Given the description of an element on the screen output the (x, y) to click on. 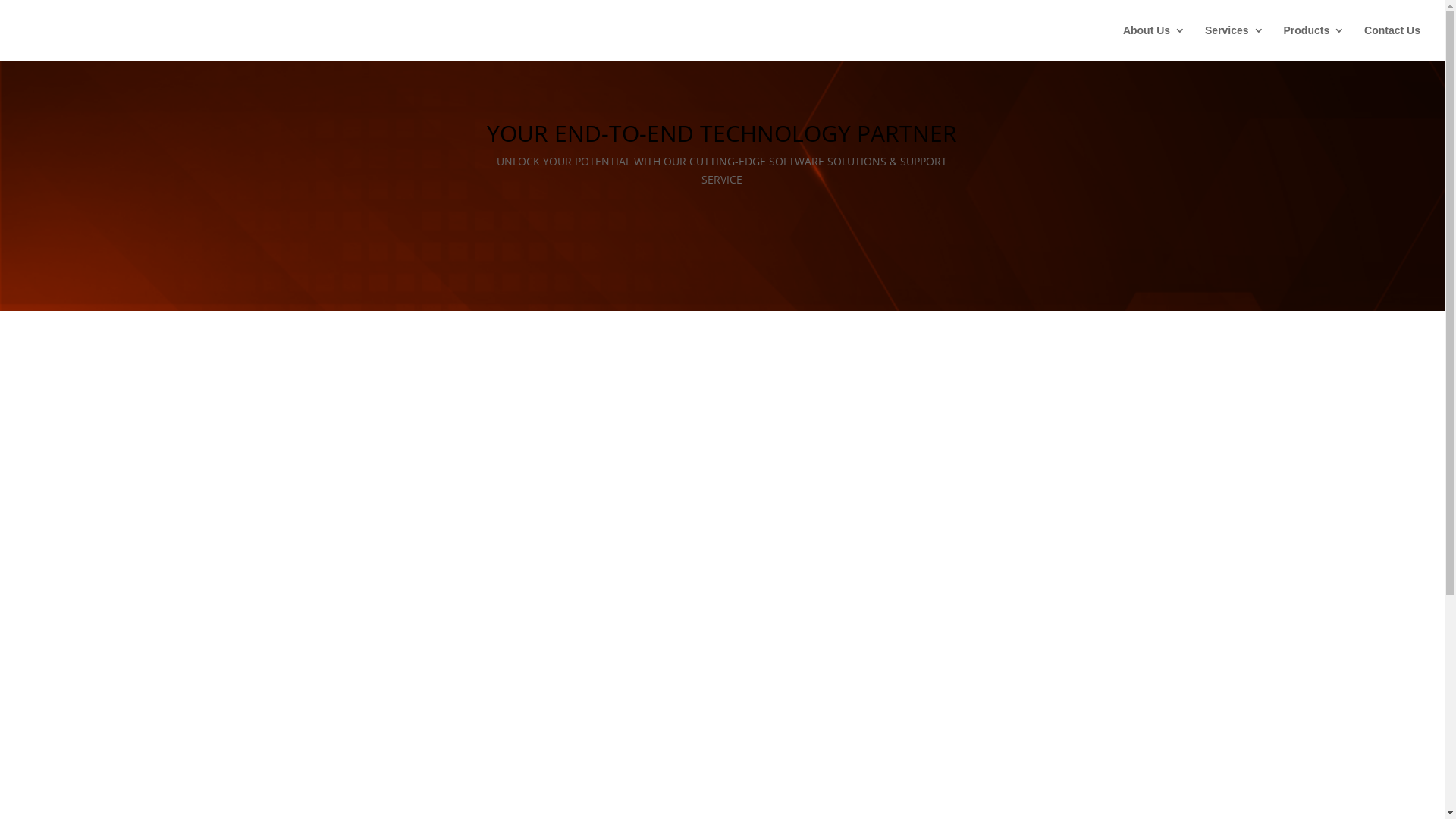
About Us Element type: text (1154, 42)
Products Element type: text (1314, 42)
Contact Us Element type: text (1392, 42)
Services Element type: text (1234, 42)
